Given the description of an element on the screen output the (x, y) to click on. 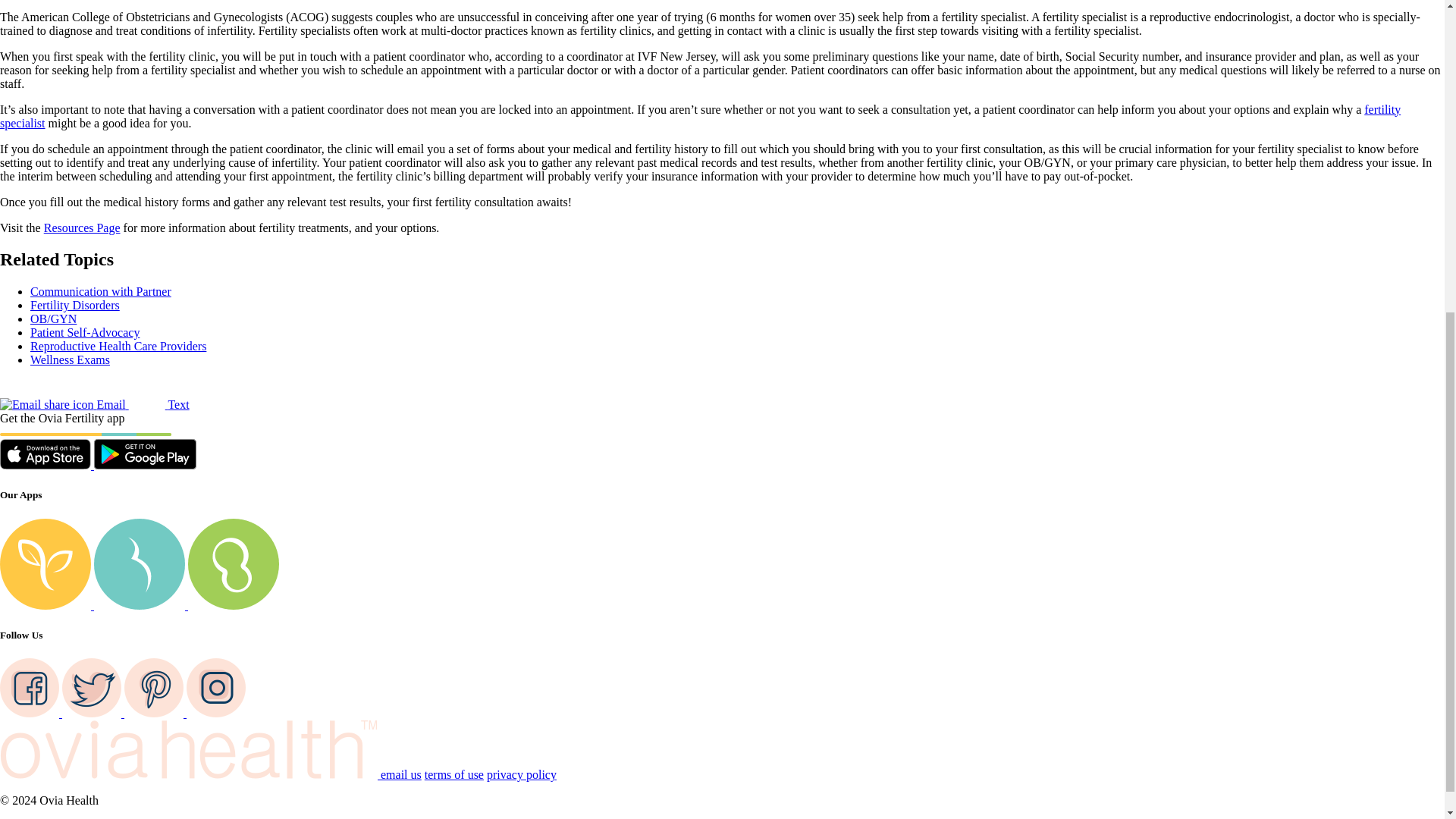
Communication with Partner (100, 291)
Text (159, 404)
email us (401, 774)
Email (64, 404)
Reproductive Health Care Providers (118, 345)
Ovia Fertility Journey (85, 434)
terms of use (454, 774)
privacy policy (521, 774)
Fertility Disorders (74, 305)
Resources Page (81, 227)
Wellness Exams (70, 359)
